Given the description of an element on the screen output the (x, y) to click on. 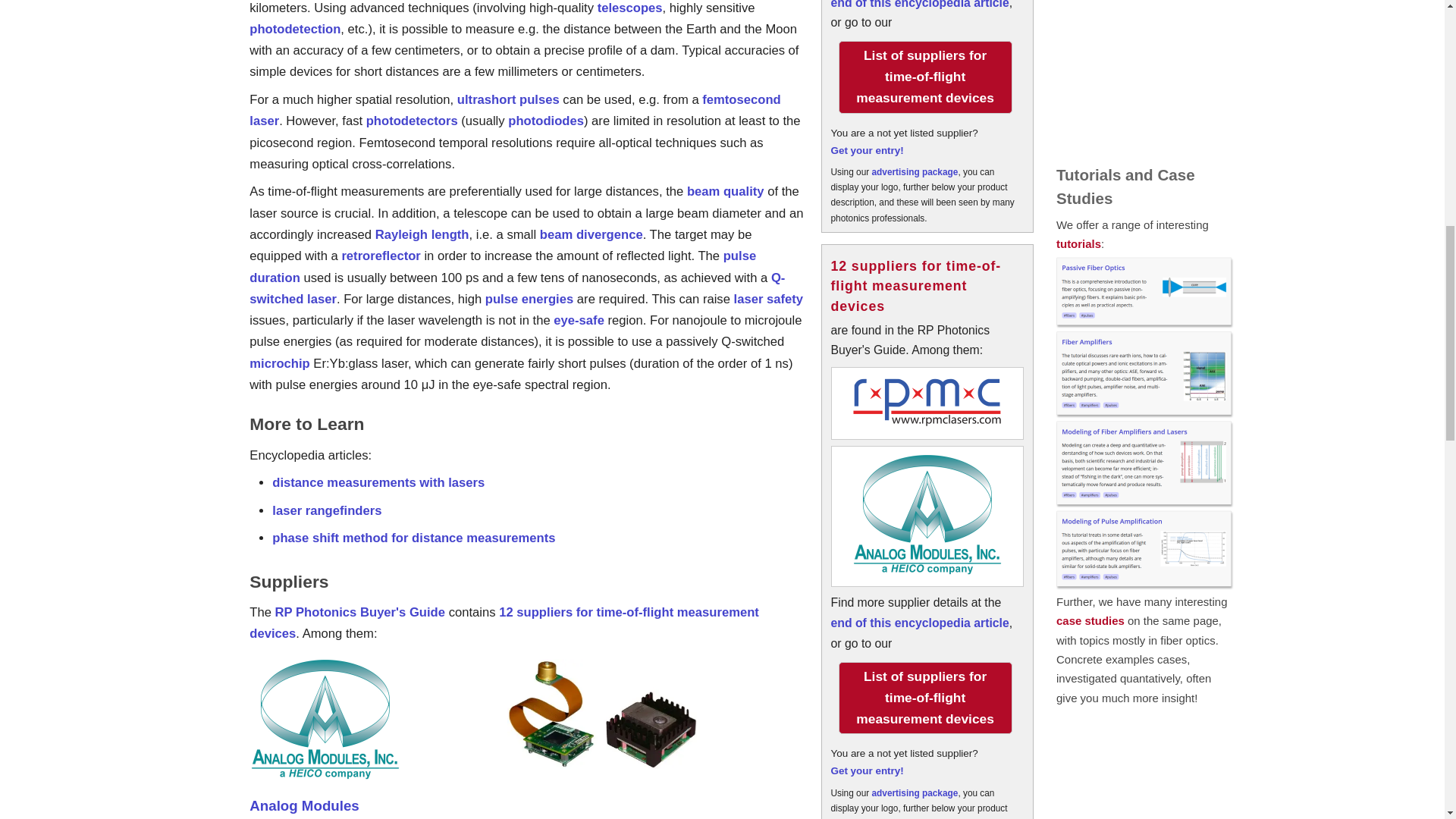
advertising package (924, 76)
Get your entry! (914, 792)
12 suppliers for time-of-flight measurement devices (867, 770)
Get your entry! (916, 285)
advertising package (867, 150)
end of this encyclopedia article (914, 172)
end of this encyclopedia article (920, 622)
